Given the description of an element on the screen output the (x, y) to click on. 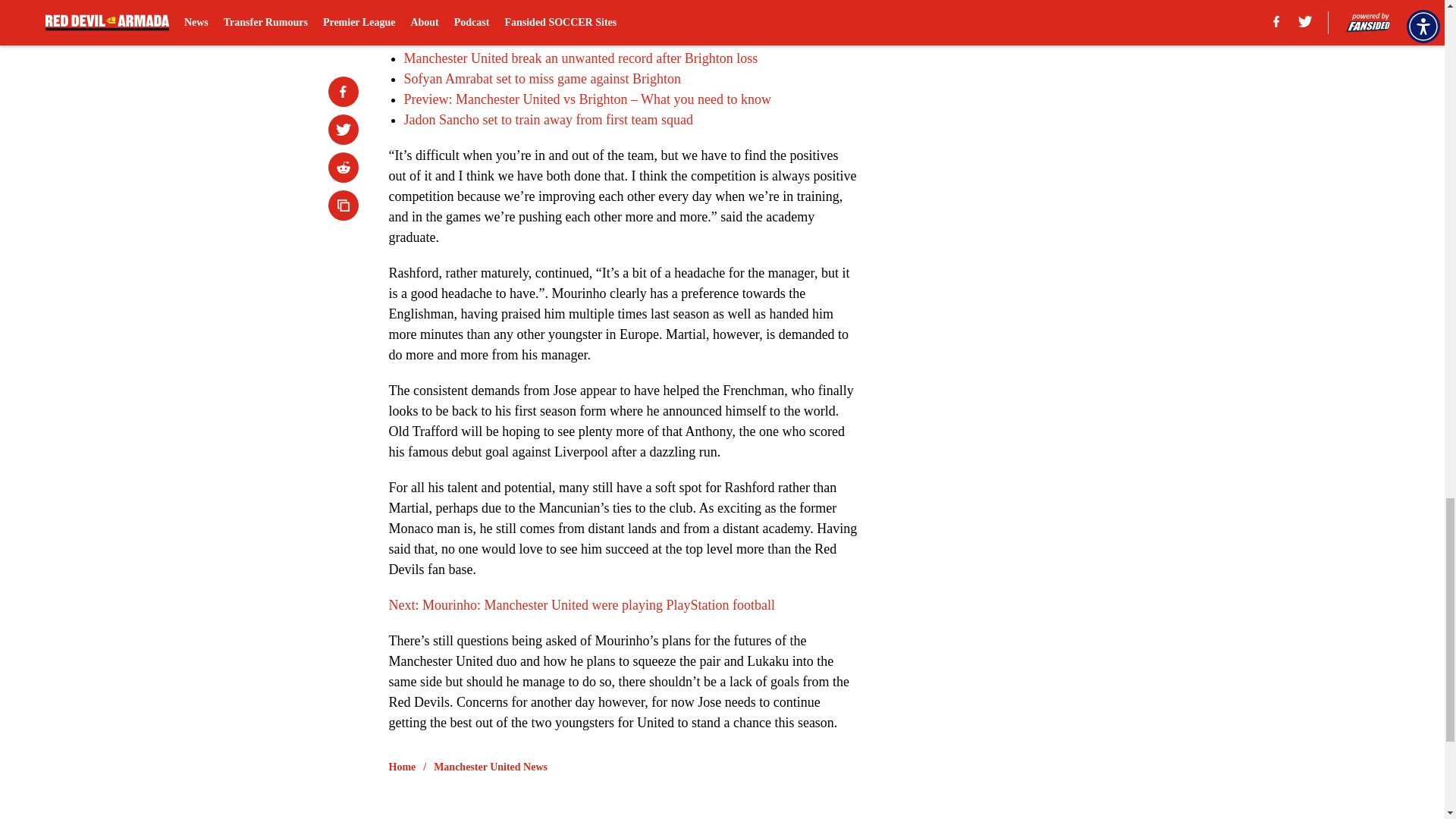
Home (401, 767)
Jadon Sancho set to train away from first team squad (548, 119)
Sofyan Amrabat set to miss game against Brighton (541, 78)
Manchester United News (490, 767)
